Given the description of an element on the screen output the (x, y) to click on. 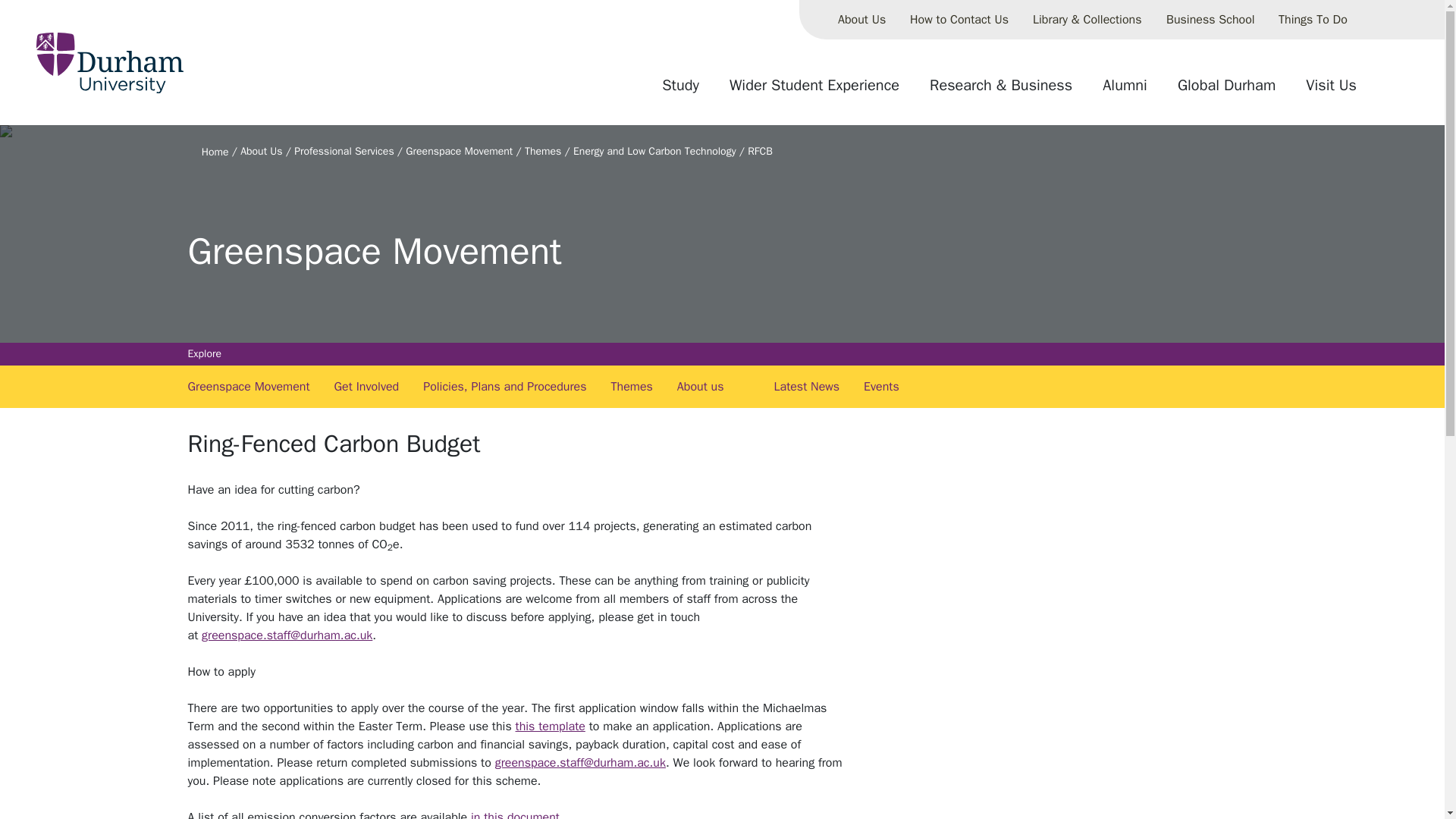
Study (680, 91)
Alumni (1124, 91)
Visit Us (1331, 91)
How to Contact Us (959, 19)
Business School (1210, 19)
Things To Do (1312, 19)
Wider Student Experience (814, 91)
About Us (861, 19)
Global Durham (1226, 91)
